Given the description of an element on the screen output the (x, y) to click on. 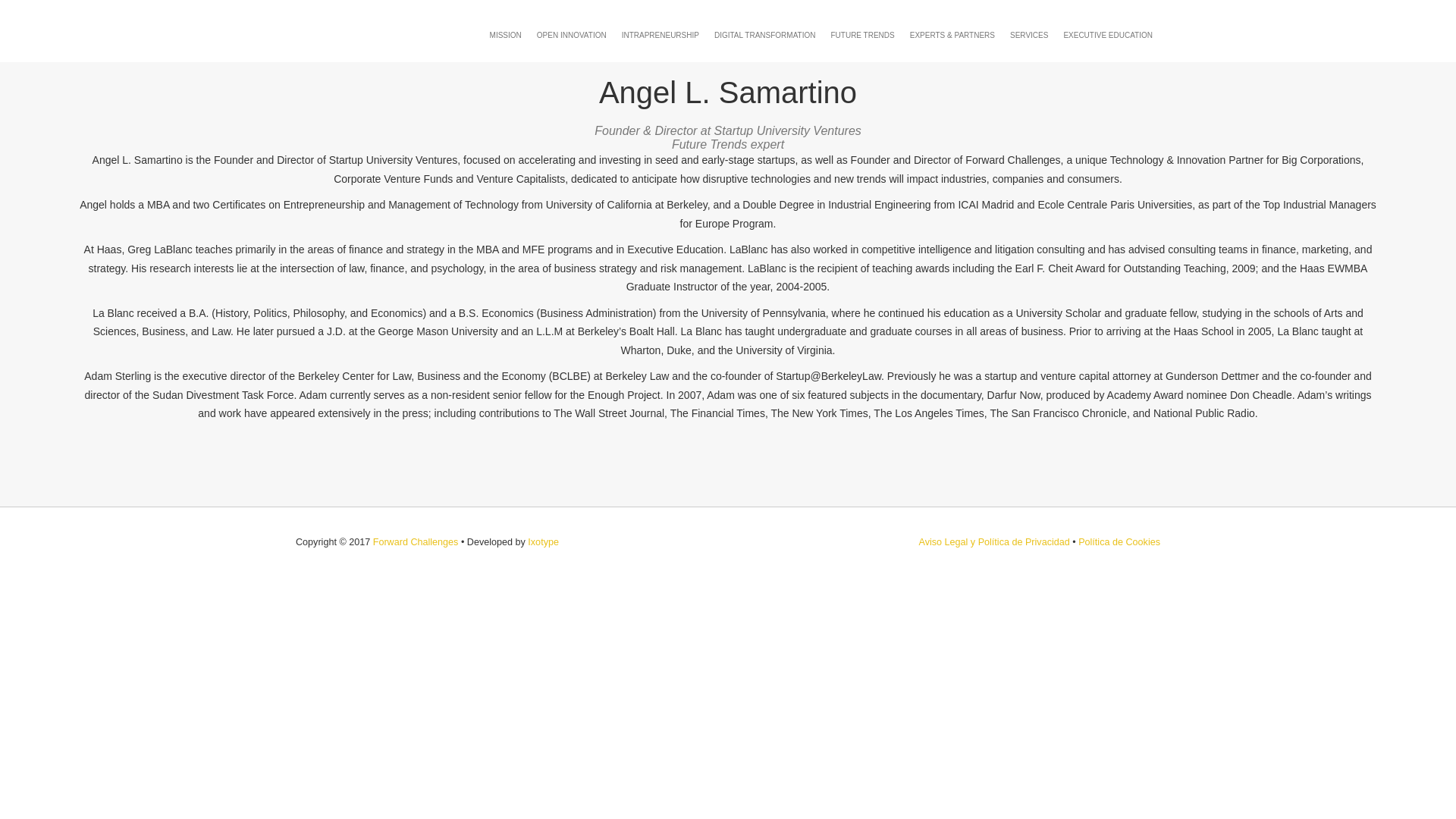
MISSION (505, 35)
INTRAPRENEURSHIP (660, 35)
OPEN INNOVATION (571, 35)
FUTURE TRENDS (861, 35)
EXECUTIVE EDUCATION (1107, 35)
Forward Challenges (415, 542)
SERVICES (1029, 35)
Ixotype (543, 542)
DIGITAL TRANSFORMATION (765, 35)
